Given the description of an element on the screen output the (x, y) to click on. 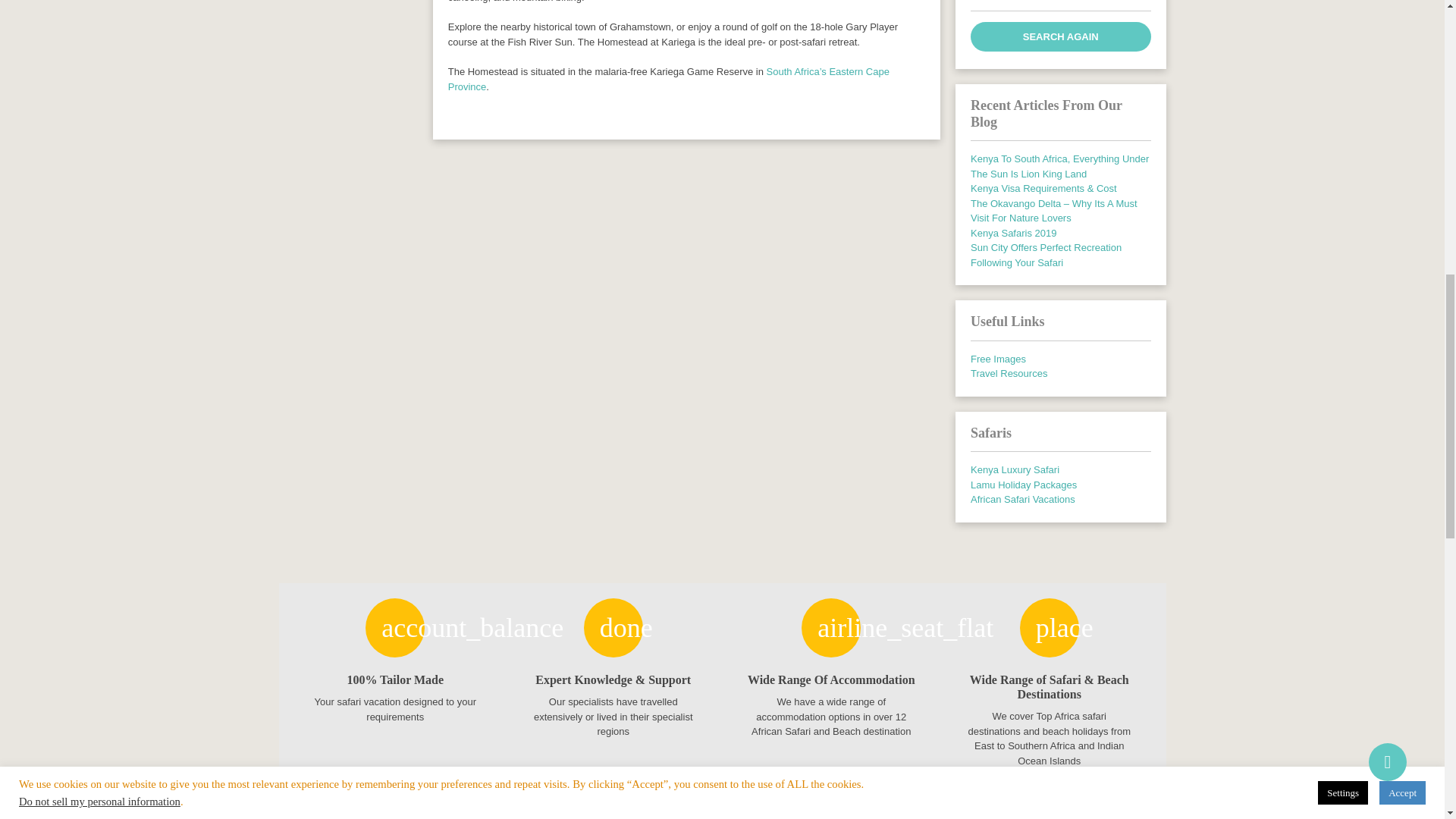
Free Images (998, 358)
Sun City Offers Perfect Recreation Following Your Safari (1046, 254)
Kenya Safaris 2019 (1014, 233)
Kenya Luxury Safari (1015, 469)
Search again (1061, 36)
Search again (1061, 36)
Travel Resources (1008, 373)
